Given the description of an element on the screen output the (x, y) to click on. 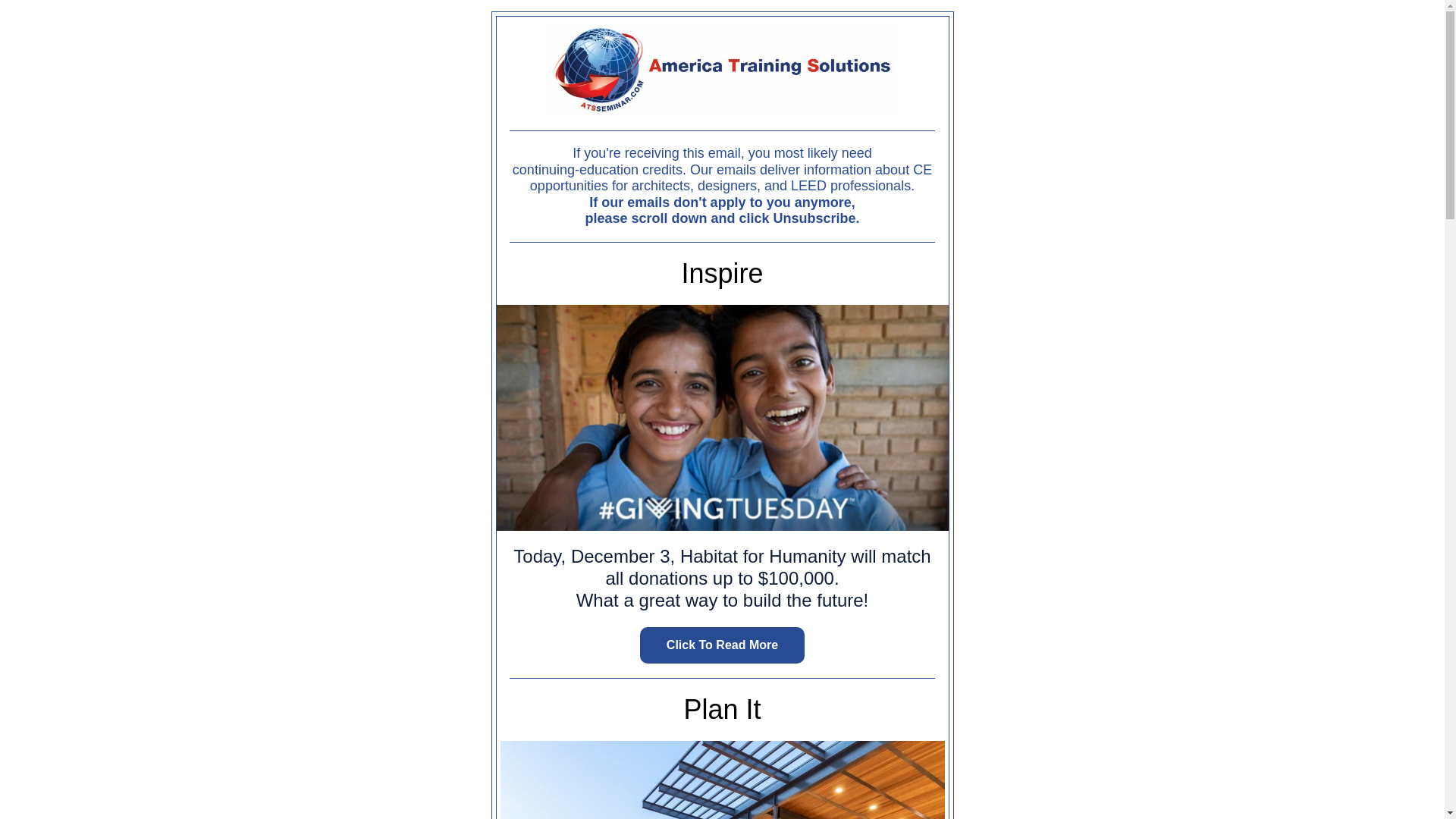
Click To Read More (721, 644)
